Given the description of an element on the screen output the (x, y) to click on. 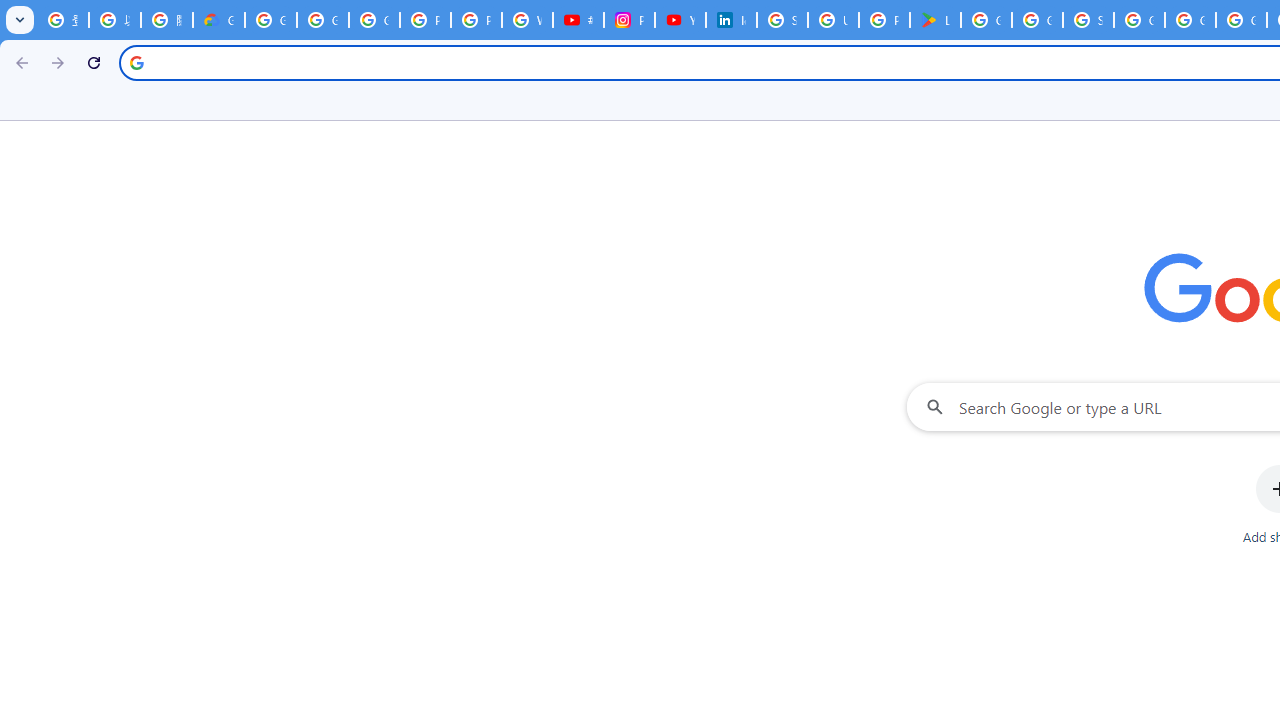
Google Workspace - Specific Terms (1037, 20)
